Given the description of an element on the screen output the (x, y) to click on. 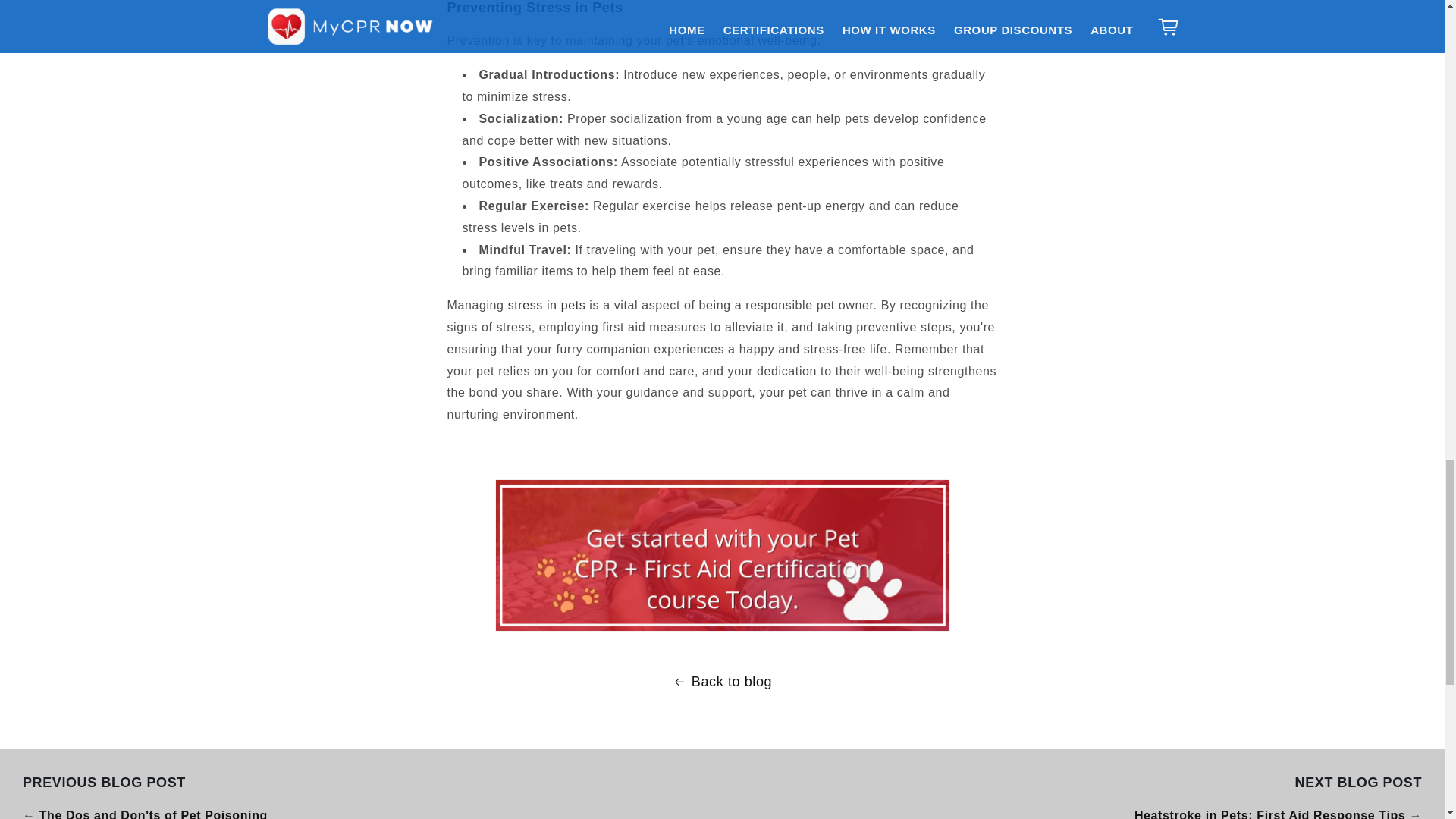
stress in pets (547, 305)
The Dos and Don'ts of Pet Poisoning (153, 814)
Heatstroke in Pets: First Aid Response Tips (1269, 814)
